Given the description of an element on the screen output the (x, y) to click on. 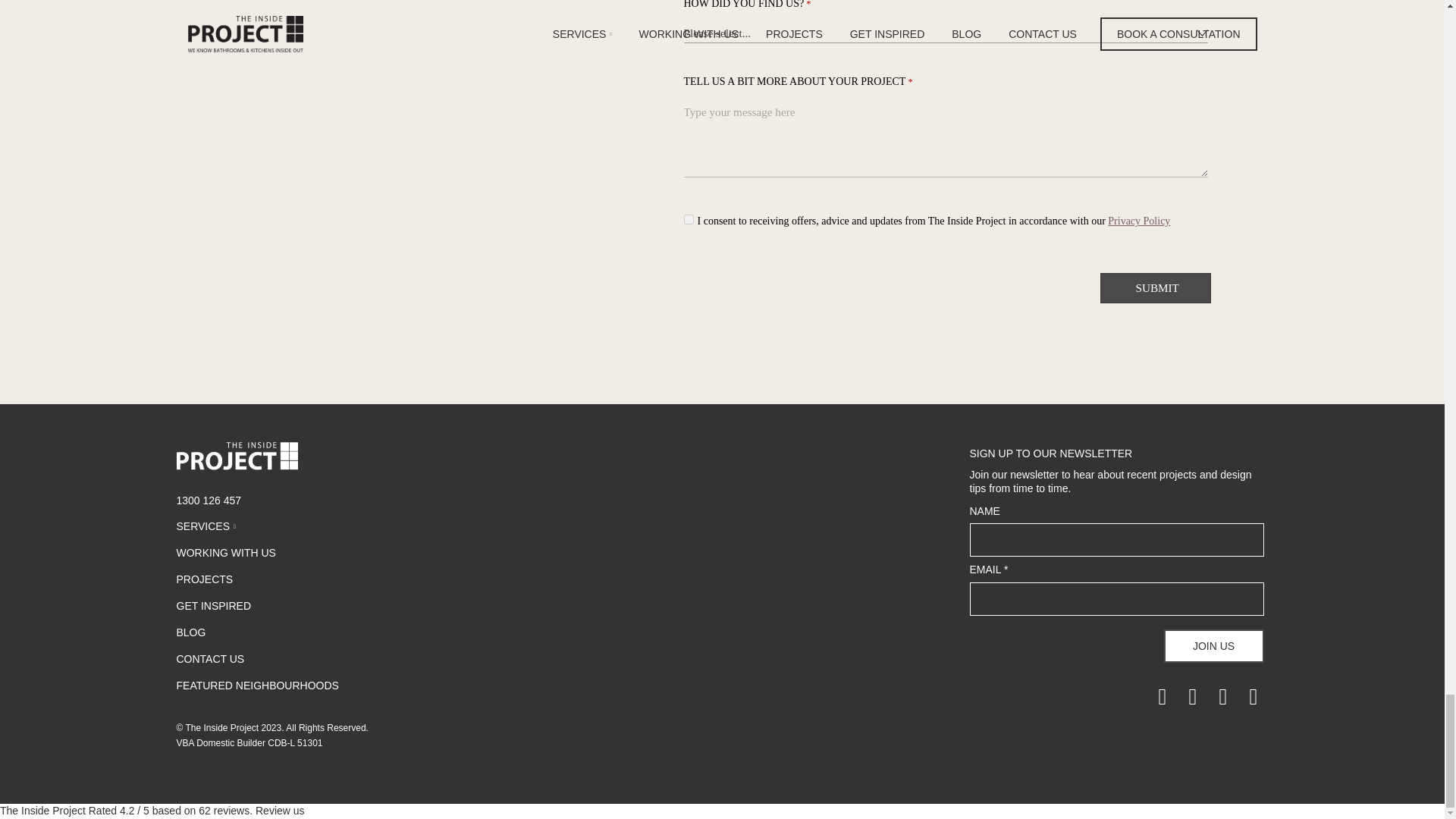
JOIN US (1213, 645)
TELL US A BIT MORE ABOUT YOUR PROJECT (946, 139)
SUBMIT (1155, 287)
HOW DID YOU FIND US? (946, 33)
